Given the description of an element on the screen output the (x, y) to click on. 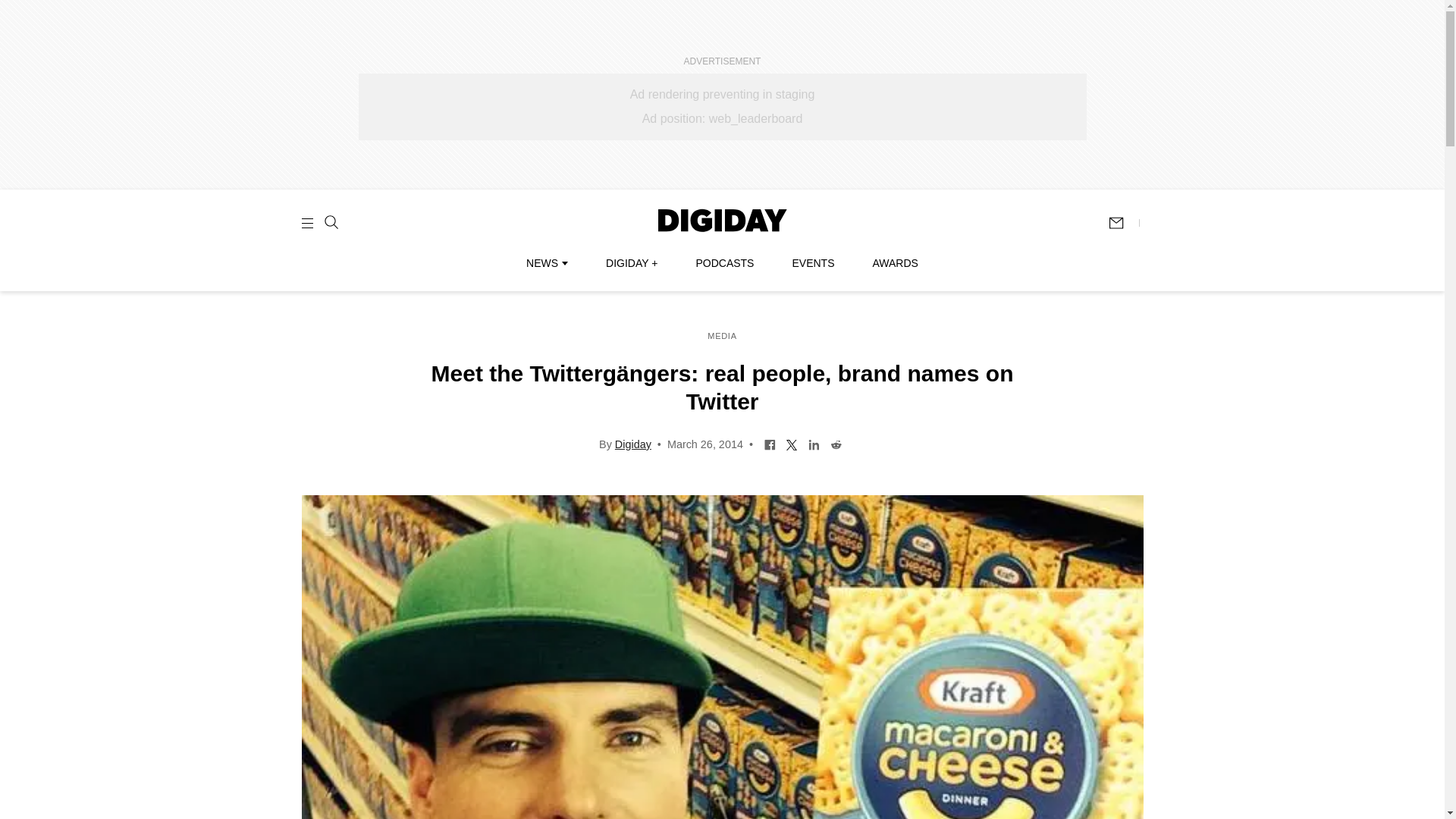
PODCASTS (725, 262)
Share on LinkedIn (814, 443)
Share on Reddit (836, 443)
Subscribe (1123, 223)
NEWS (546, 262)
AWARDS (894, 262)
Share on Twitter (791, 443)
EVENTS (813, 262)
Share on Facebook (769, 443)
